Given the description of an element on the screen output the (x, y) to click on. 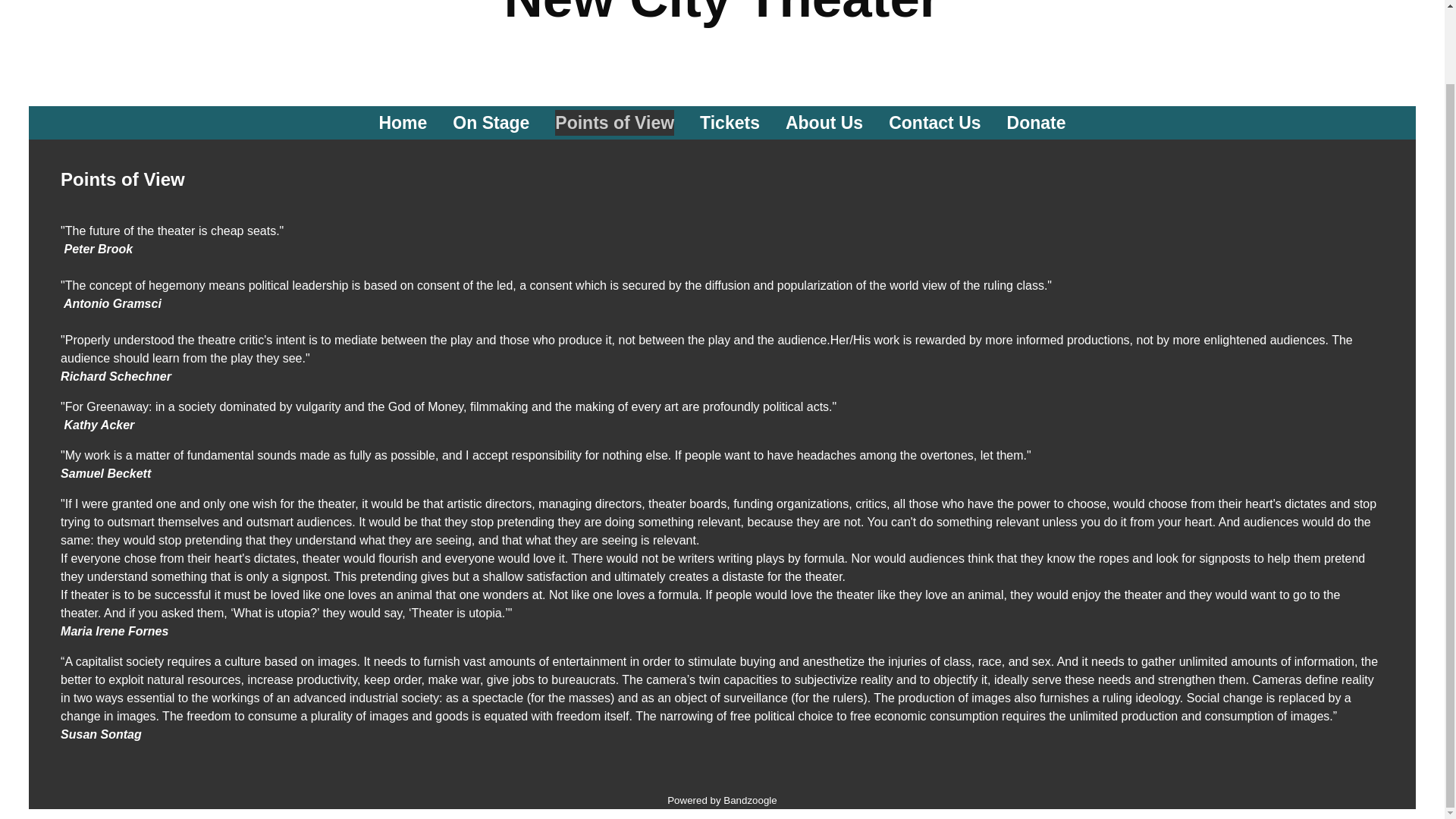
Powered by Bandzoogle (721, 799)
New City Theater (721, 10)
Donate (1036, 122)
Contact Us (933, 122)
Home (402, 122)
On Stage (490, 122)
About Us (824, 122)
Powered by Bandzoogle (721, 799)
Tickets (730, 122)
Points of View (614, 122)
